Given the description of an element on the screen output the (x, y) to click on. 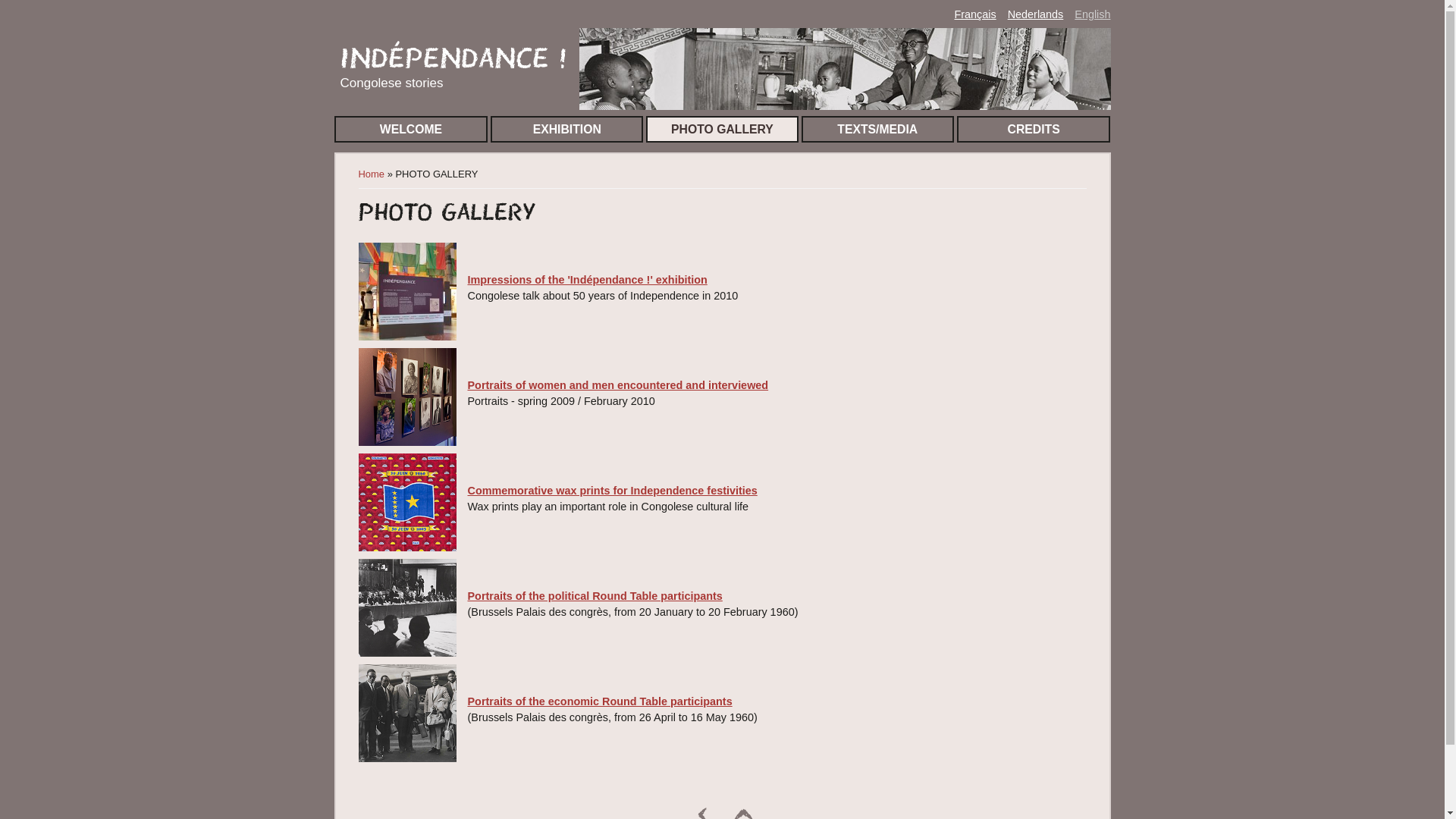
Portraits of women and men encountered and interviewed Element type: text (775, 384)
Commemorative wax prints for Independence festivities Element type: text (775, 490)
English Element type: text (1092, 14)
Portraits of the economic Round Table participants Element type: text (775, 701)
WELCOME Element type: text (410, 129)
EXHIBITION Element type: text (566, 129)
Portraits of the political Round Table participants Element type: text (775, 595)
Nederlands Element type: text (1035, 14)
Home Element type: text (370, 173)
CREDITS Element type: text (1033, 129)
PHOTO GALLERY Element type: text (722, 129)
TEXTS/MEDIA Element type: text (877, 129)
